Given the description of an element on the screen output the (x, y) to click on. 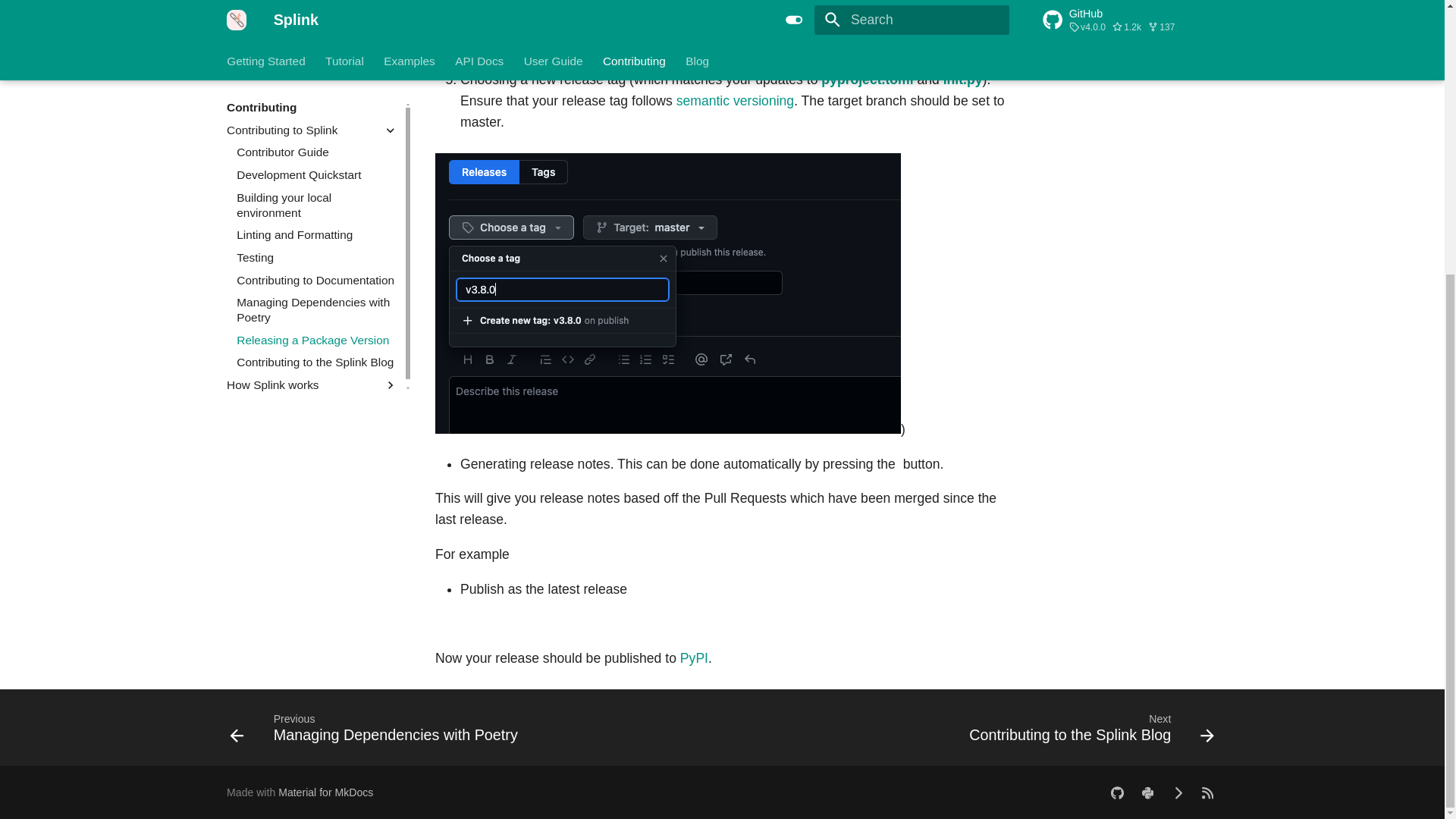
pypi.org (1147, 791)
github.com (1117, 791)
moj-analytical-services.github.io (1207, 791)
www.robinlinacre.com (1177, 791)
